Given the description of an element on the screen output the (x, y) to click on. 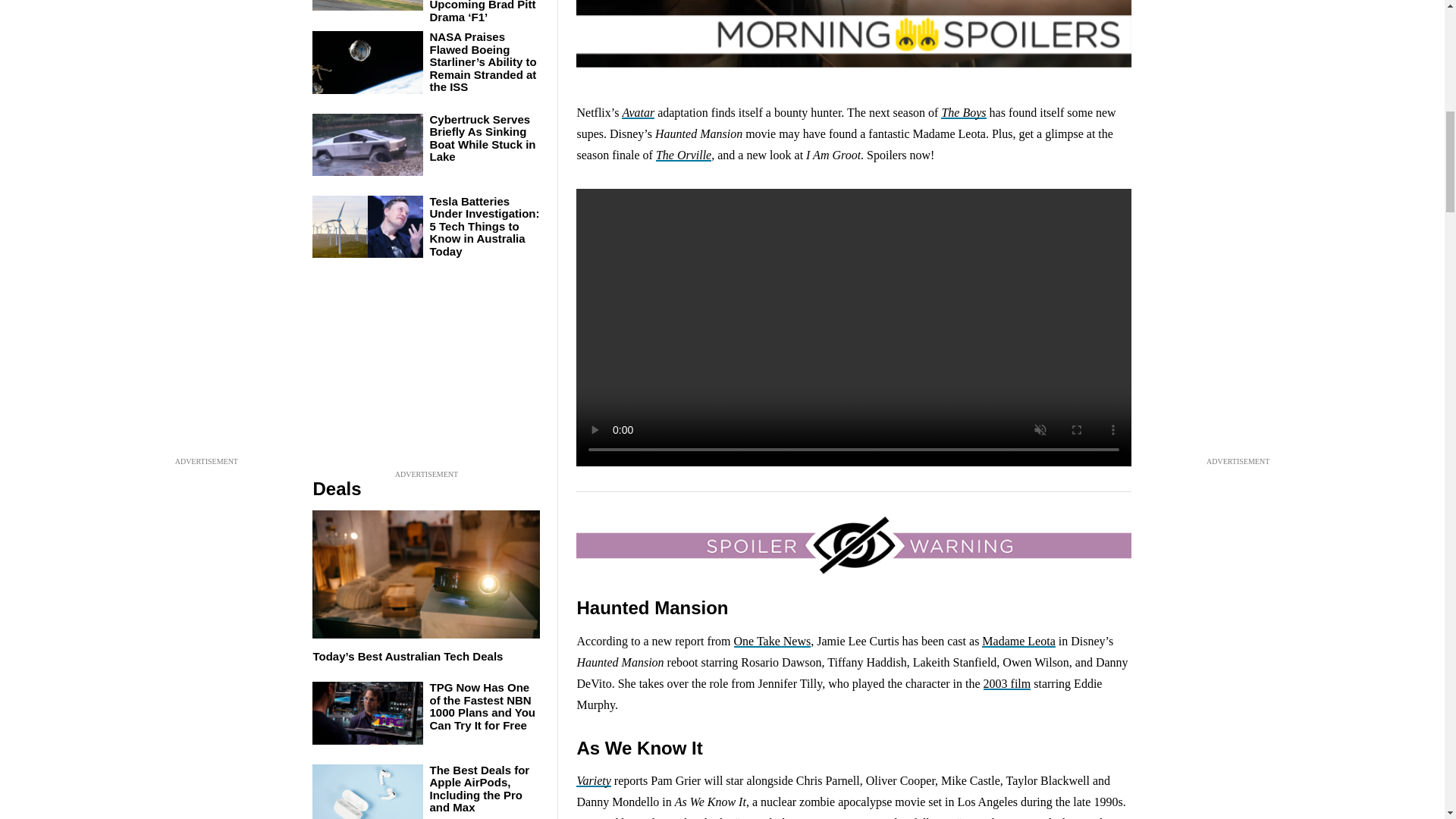
3rd party ad content (426, 372)
